Given the description of an element on the screen output the (x, y) to click on. 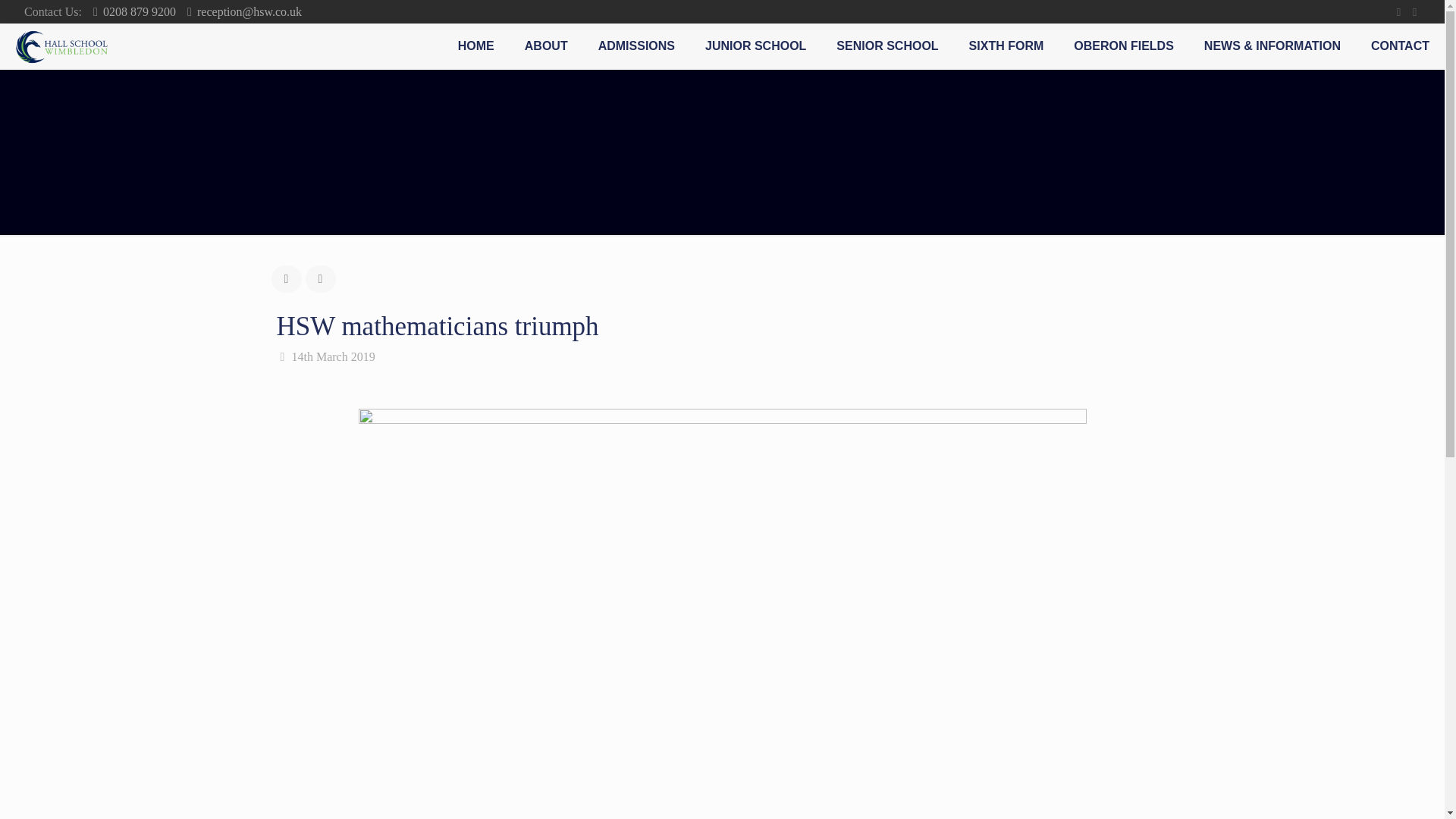
SENIOR SCHOOL (887, 45)
Hall School Wimbledon (60, 45)
HOME (475, 45)
0208 879 9200 (139, 11)
LinkedIn (1415, 11)
JUNIOR SCHOOL (755, 45)
ADMISSIONS (636, 45)
ABOUT (546, 45)
